Given the description of an element on the screen output the (x, y) to click on. 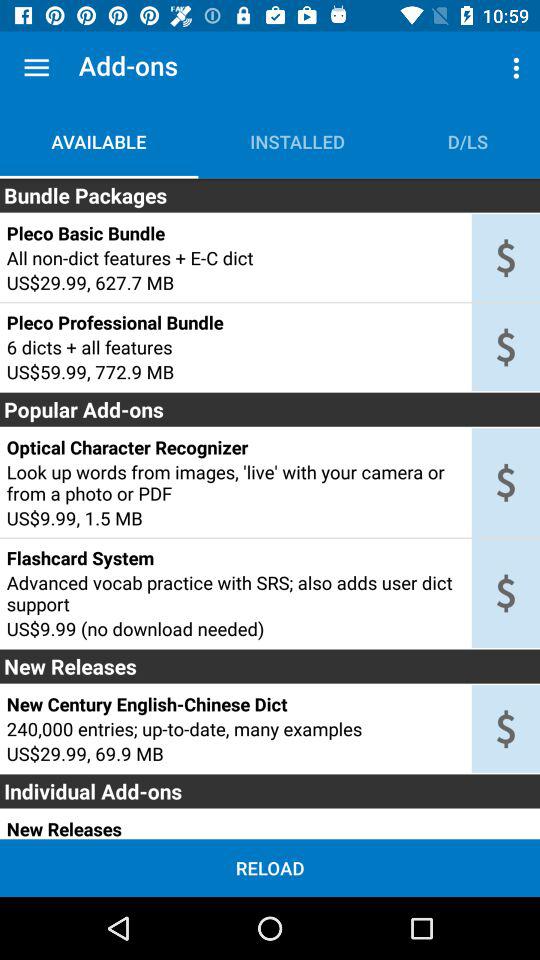
turn off item next to d/ls item (297, 141)
